Given the description of an element on the screen output the (x, y) to click on. 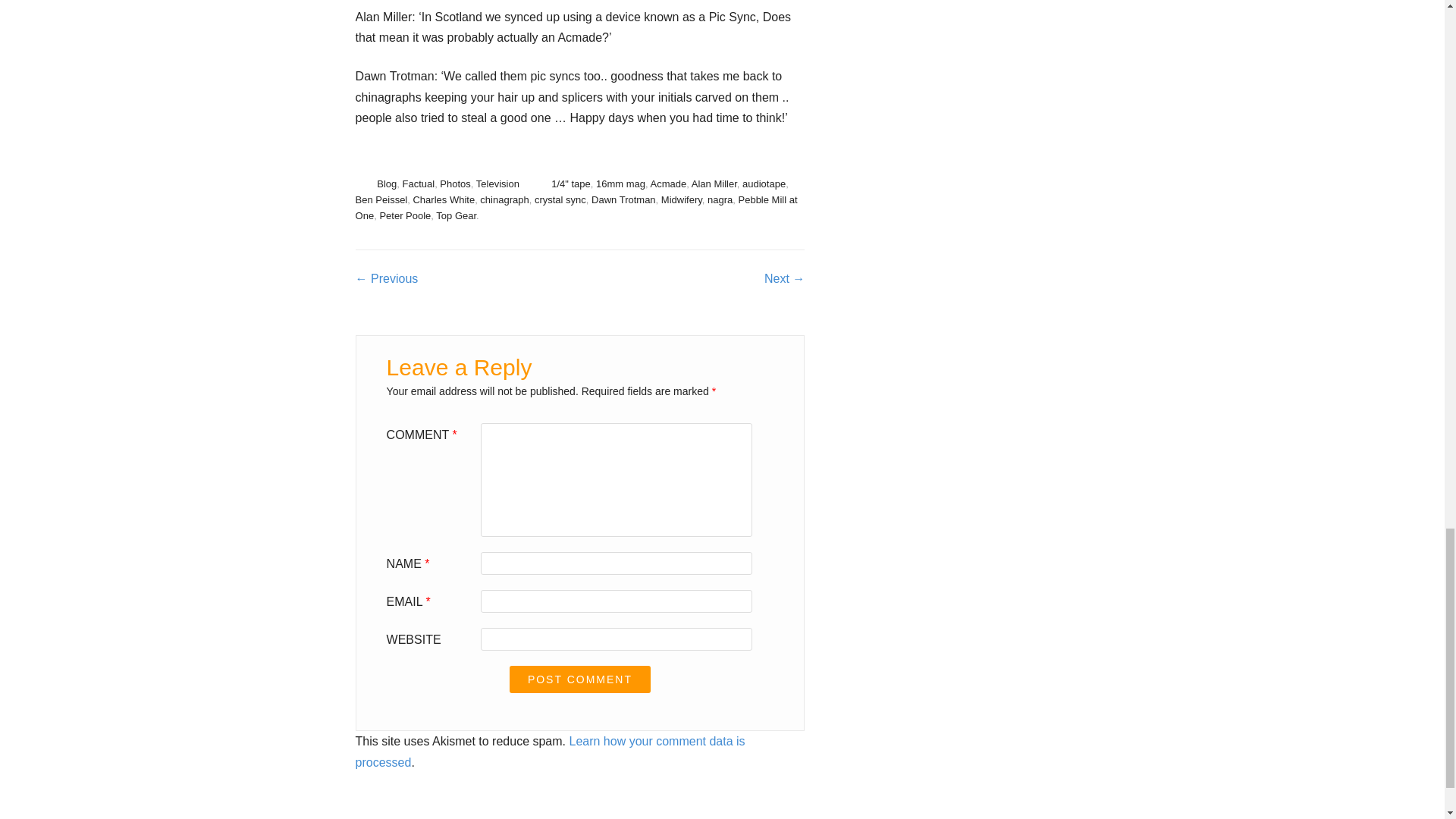
Peter Poole (404, 215)
Pebble Mill at One (576, 207)
Dawn Trotman (623, 199)
audiotape (764, 183)
Post Comment (579, 678)
Learn how your comment data is processed (550, 751)
Alan Miller (713, 183)
crystal sync (560, 199)
Ben Peissel (381, 199)
Photos (454, 183)
